Given the description of an element on the screen output the (x, y) to click on. 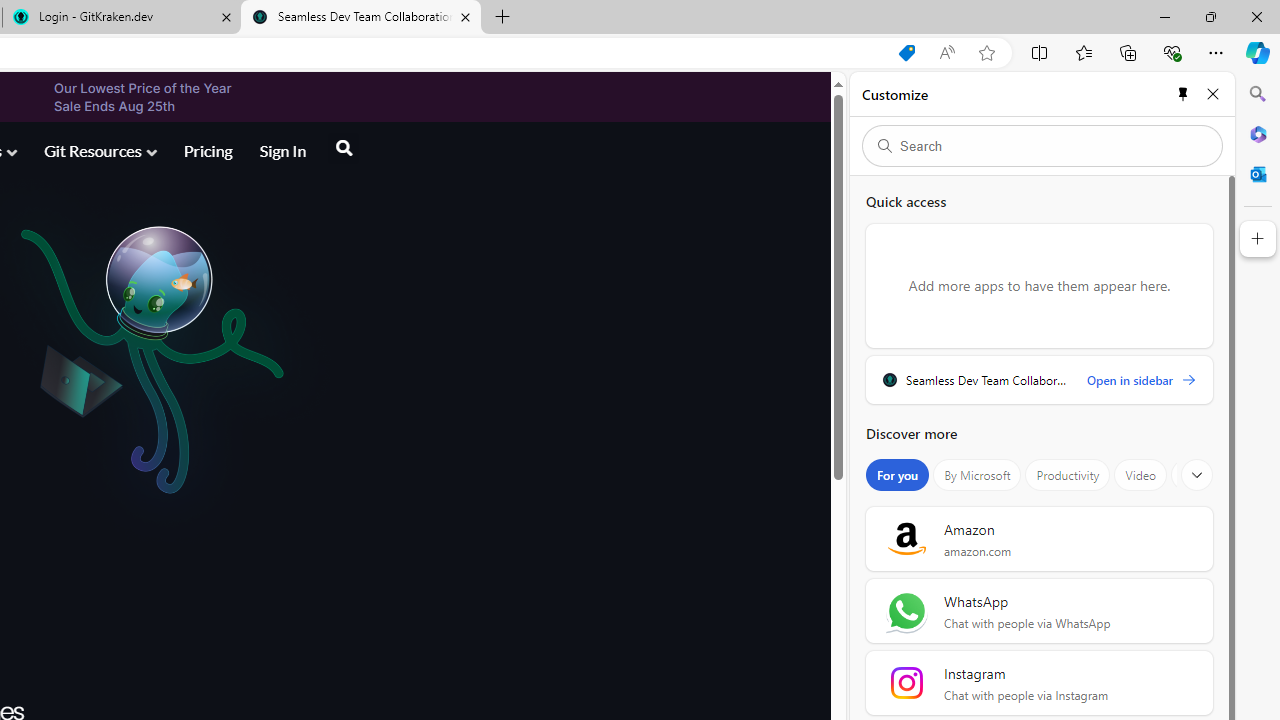
Sign In (282, 150)
Show more (1197, 475)
